Given the description of an element on the screen output the (x, y) to click on. 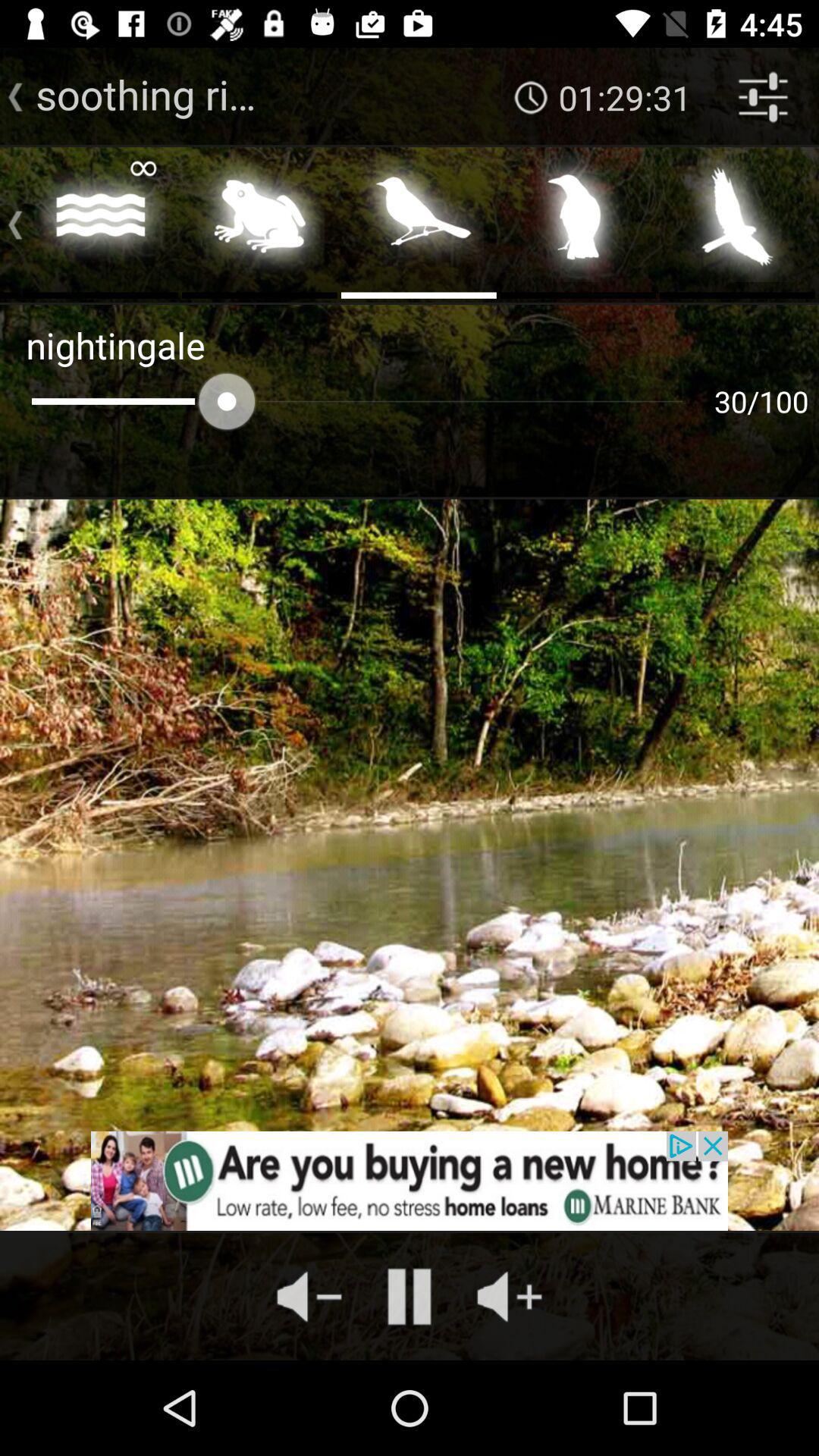
select option (418, 221)
